Given the description of an element on the screen output the (x, y) to click on. 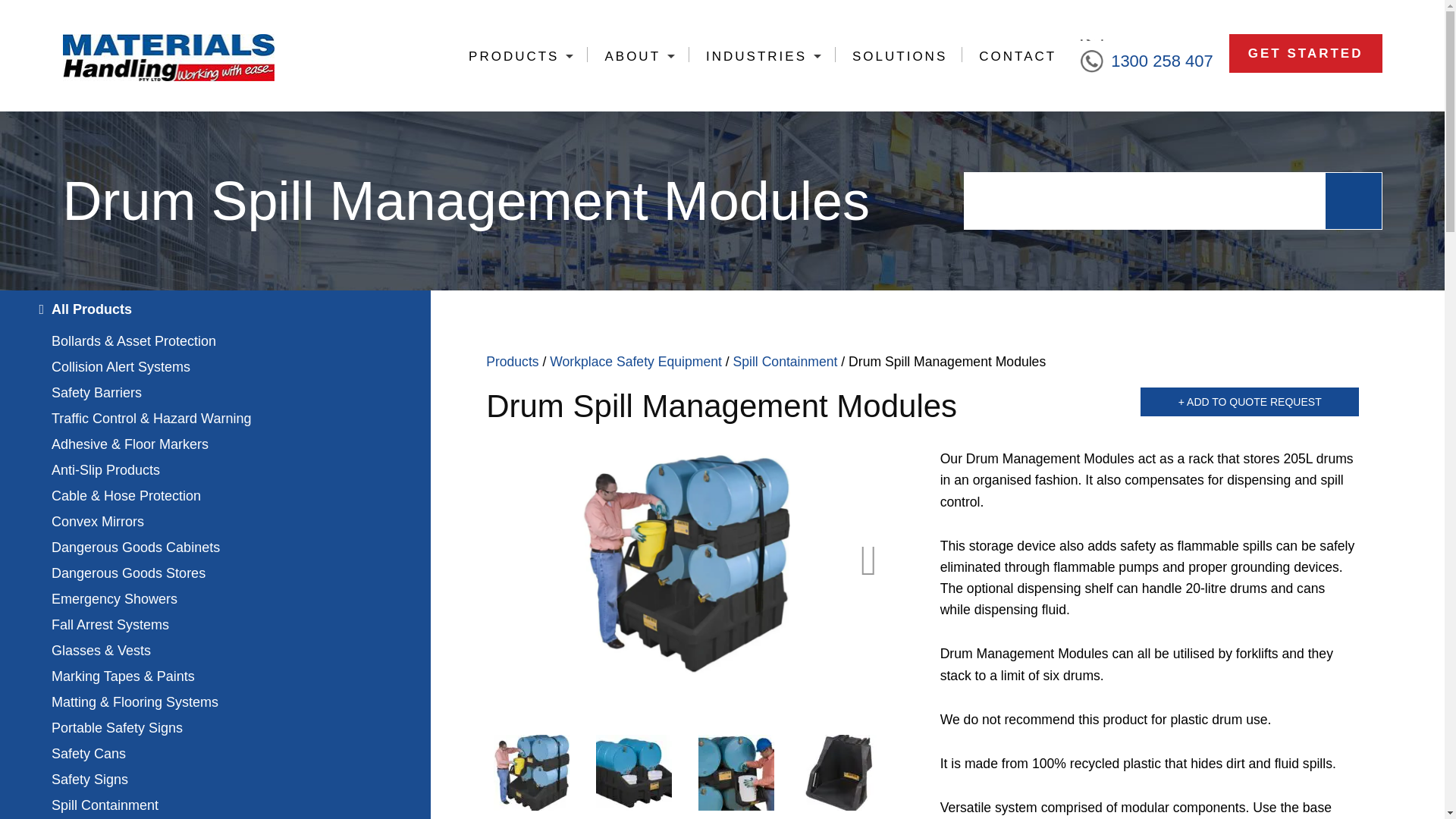
GET STARTED (1304, 53)
Go to the Spill Containment Product Category archives. (785, 361)
Drum Spill Management Modules D28903 28669 (736, 772)
Drum Spill Management Modules D28904 28671 2 (685, 561)
Drum Spill Management Modules D28904 28671 1 (838, 772)
Drum Spill Management Modules D28902 28667 (633, 772)
Collision Alert Systems (215, 366)
Drum Spill Management Modules D28904 28671 2 (531, 772)
Safety Barriers (215, 392)
SOLUTIONS (898, 55)
ABOUT (637, 55)
Go to Products. (512, 361)
INDUSTRIES (761, 55)
CONTACT (1015, 55)
All Products (214, 309)
